Given the description of an element on the screen output the (x, y) to click on. 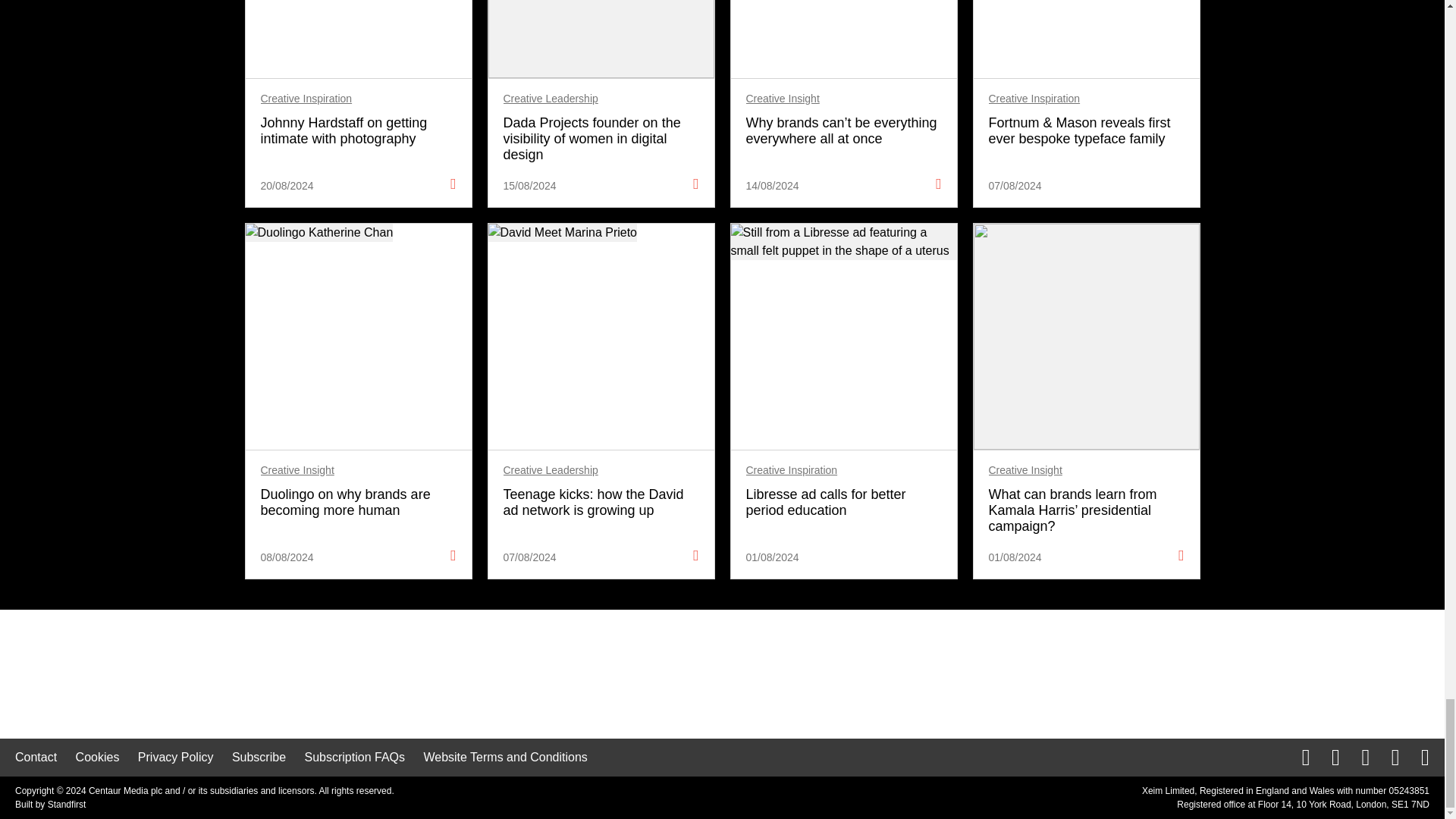
Creative Insight (782, 98)
Creative Inspiration (306, 98)
Johnny Hardstaff on getting intimate with photography (358, 131)
Creative Inspiration (1034, 98)
Creative Leadership (550, 98)
